Given the description of an element on the screen output the (x, y) to click on. 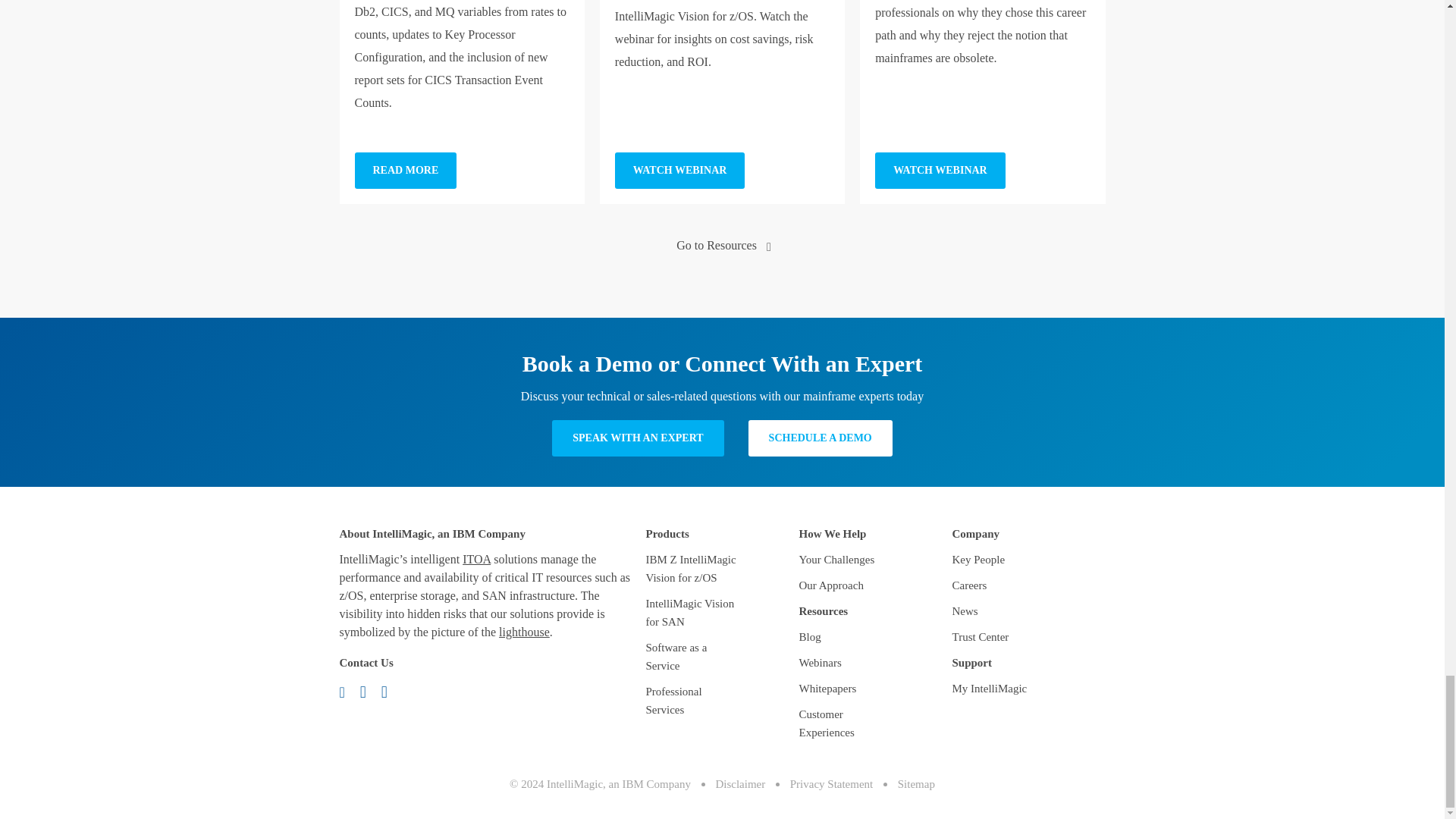
Schedule a Demo (820, 438)
call (368, 690)
email (347, 690)
Speak with an Expert (637, 438)
